Given the description of an element on the screen output the (x, y) to click on. 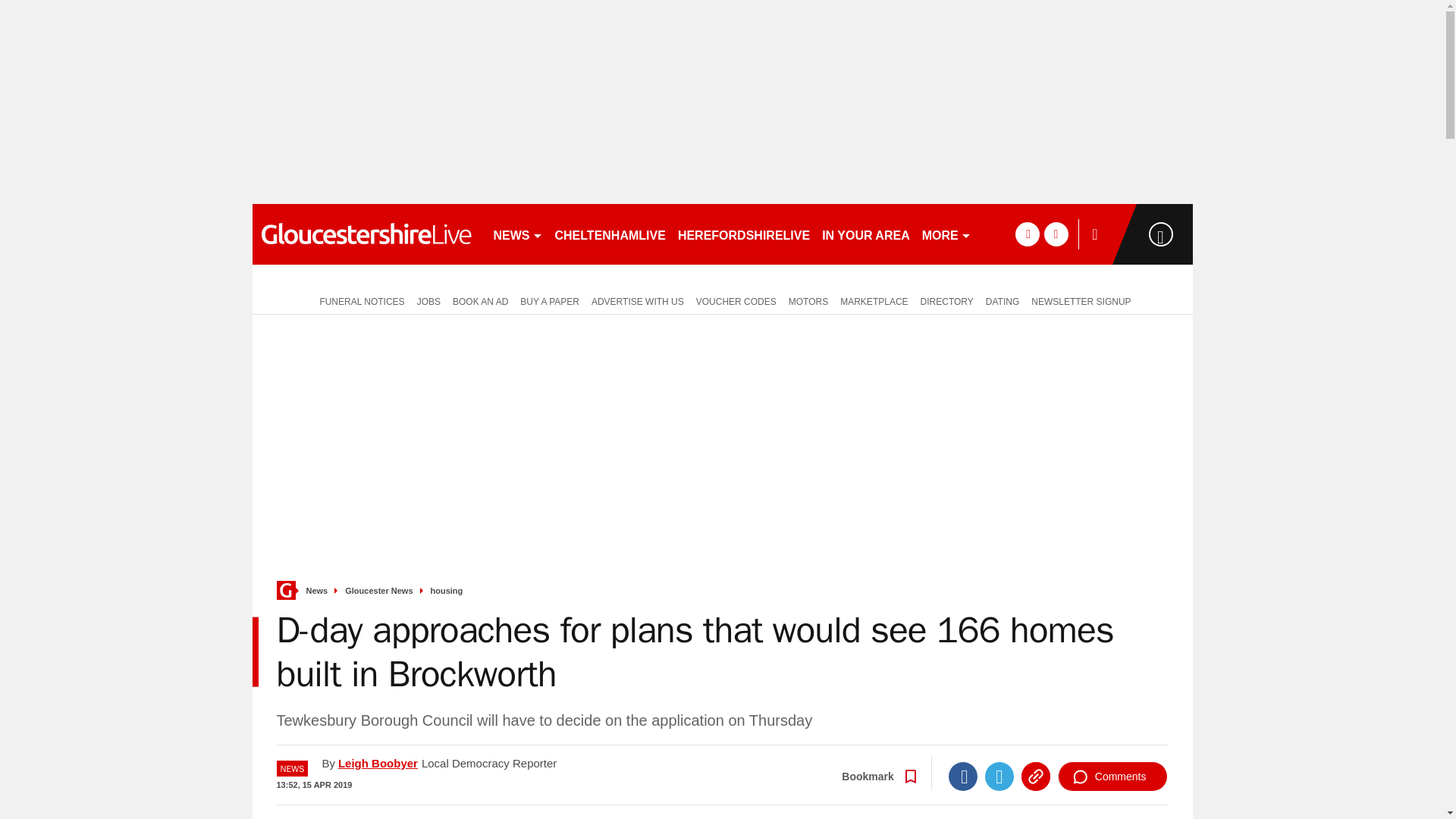
twitter (1055, 233)
facebook (1026, 233)
IN YOUR AREA (865, 233)
Comments (1112, 776)
CHELTENHAMLIVE (609, 233)
NEWS (517, 233)
HEREFORDSHIRELIVE (743, 233)
gloucestershirelive (365, 233)
Twitter (999, 776)
Facebook (962, 776)
